Given the description of an element on the screen output the (x, y) to click on. 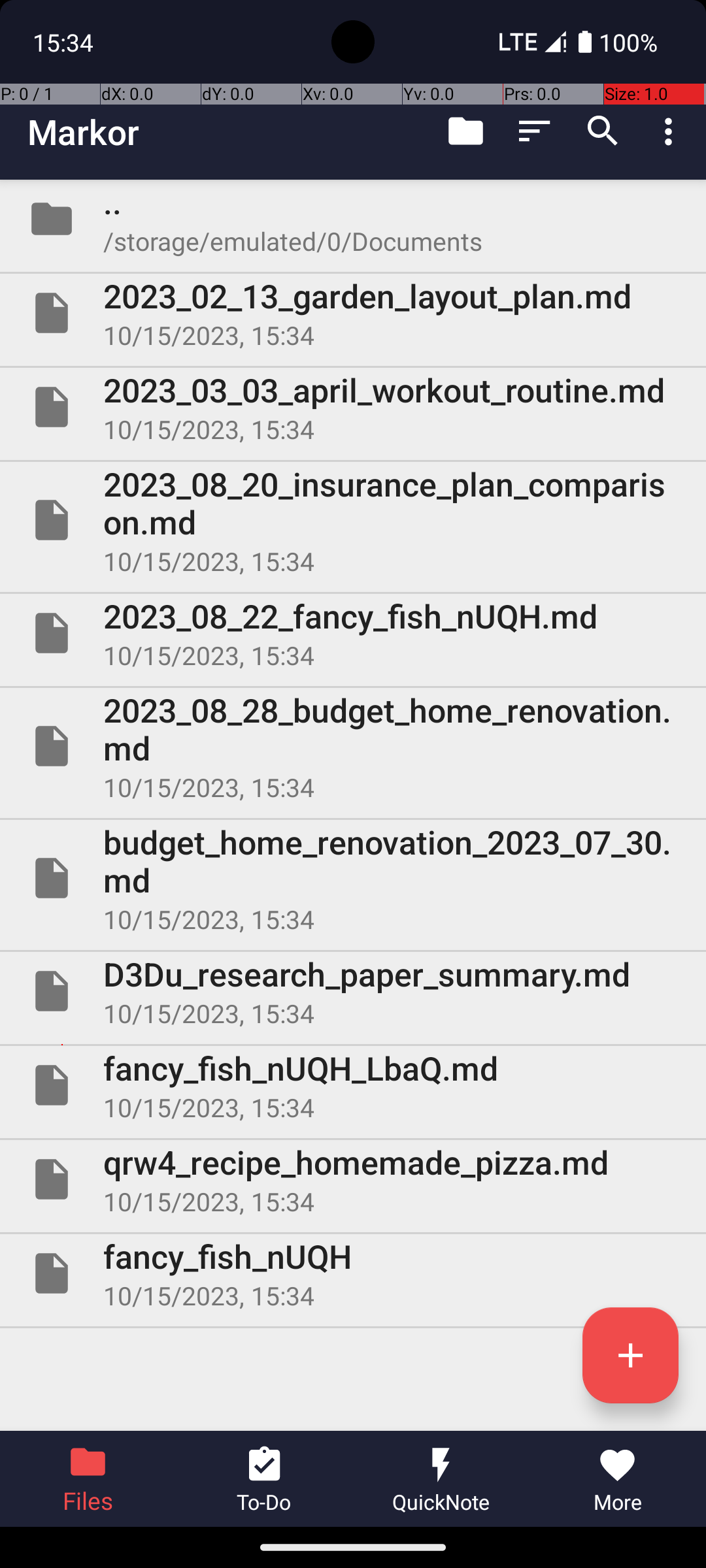
File 2023_02_13_garden_layout_plan.md  Element type: android.widget.LinearLayout (353, 312)
File 2023_03_03_april_workout_routine.md  Element type: android.widget.LinearLayout (353, 406)
File 2023_08_20_insurance_plan_comparison.md  Element type: android.widget.LinearLayout (353, 519)
File 2023_08_22_fancy_fish_nUQH.md  Element type: android.widget.LinearLayout (353, 632)
File 2023_08_28_budget_home_renovation.md  Element type: android.widget.LinearLayout (353, 745)
File budget_home_renovation_2023_07_30.md  Element type: android.widget.LinearLayout (353, 877)
File D3Du_research_paper_summary.md  Element type: android.widget.LinearLayout (353, 990)
File fancy_fish_nUQH_LbaQ.md  Element type: android.widget.LinearLayout (353, 1084)
File qrw4_recipe_homemade_pizza.md  Element type: android.widget.LinearLayout (353, 1179)
File fancy_fish_nUQH  Element type: android.widget.LinearLayout (353, 1273)
